Given the description of an element on the screen output the (x, y) to click on. 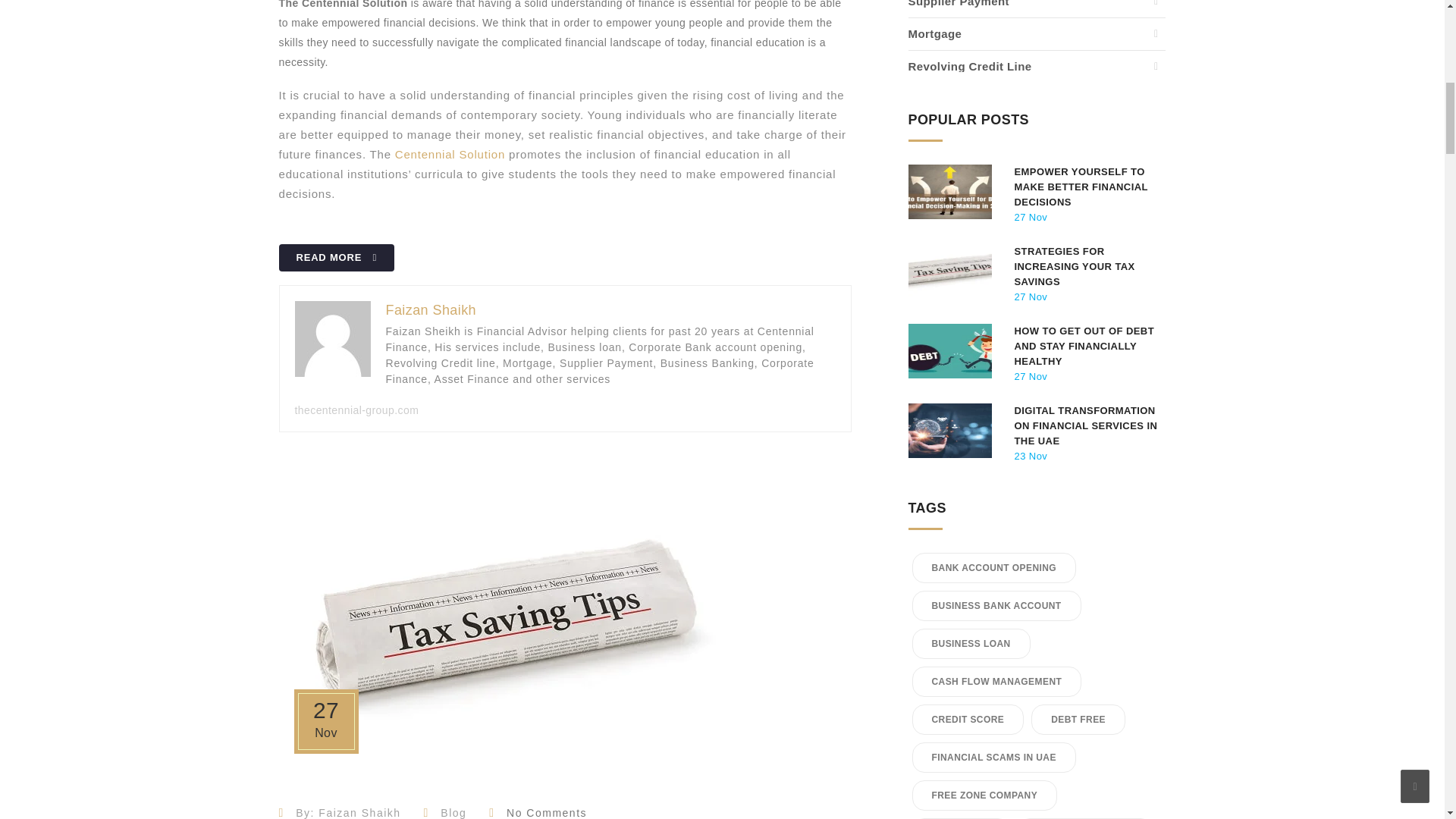
Strategies for Increasing your Tax Savings (1086, 266)
Centennial Solution (449, 154)
How to Get Out of Debt and Stay Financially Healthy (1086, 346)
Digital Transformation on Financial Services in the UAE (1086, 425)
Empower Yourself to Make Better Financial Decisions (1086, 186)
